Given the description of an element on the screen output the (x, y) to click on. 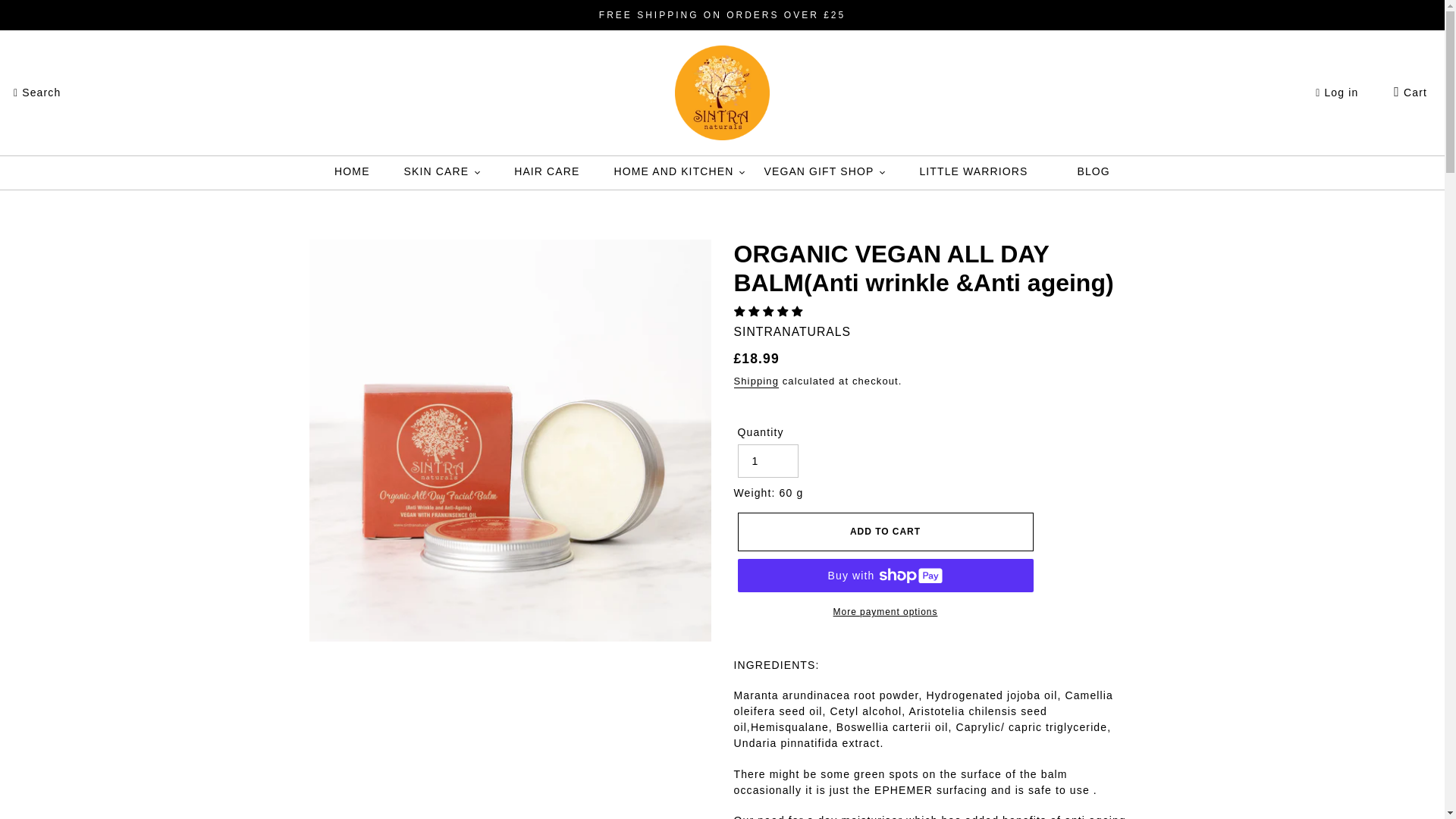
Log in (1337, 92)
1 (766, 460)
Cart (1410, 92)
HOME (351, 172)
Search (36, 92)
